Given the description of an element on the screen output the (x, y) to click on. 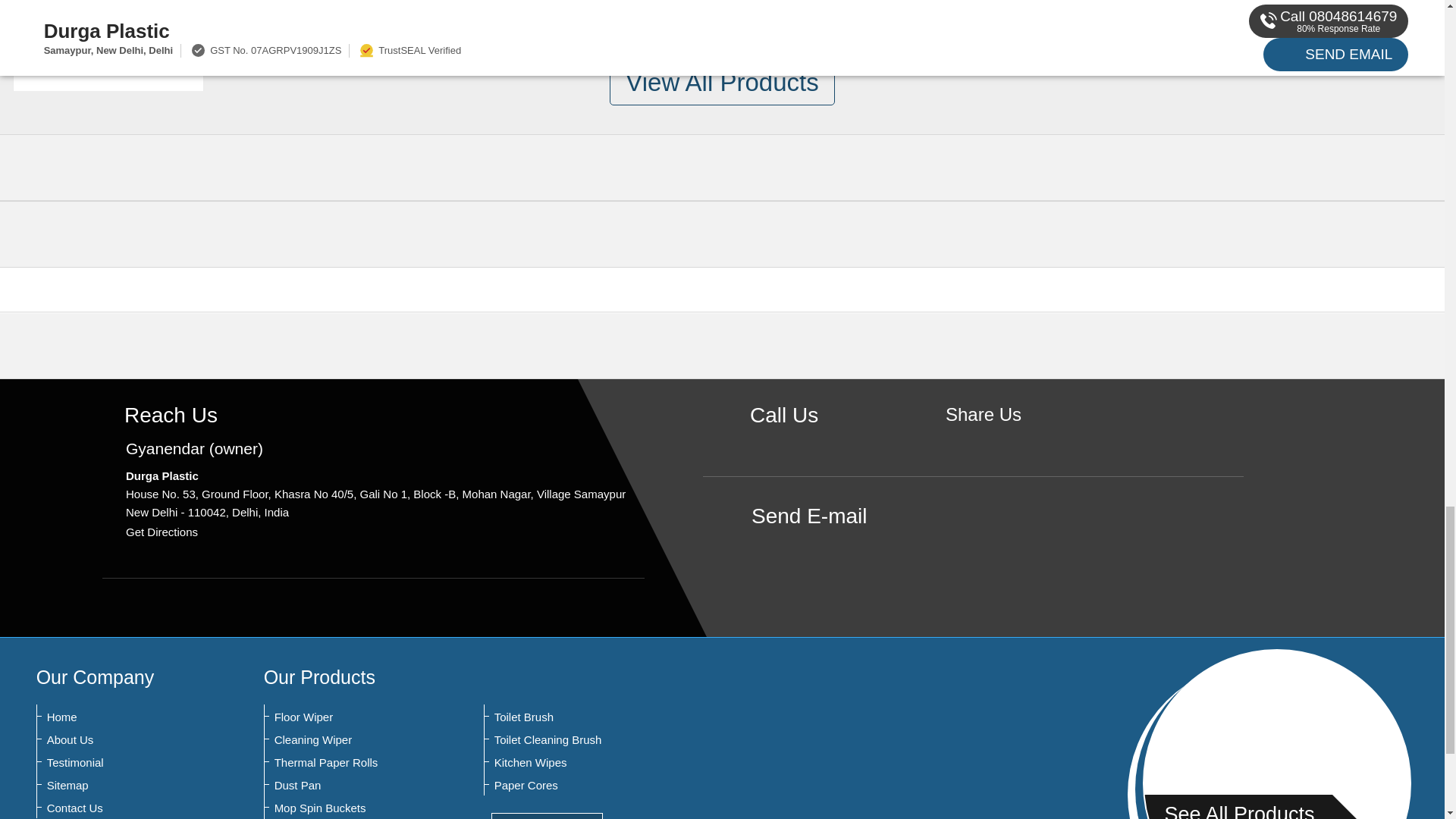
LinkedIn (1029, 440)
Home (121, 717)
Twitter (1006, 440)
View All Products (722, 83)
Get Directions (161, 531)
Facebook (983, 440)
